Given the description of an element on the screen output the (x, y) to click on. 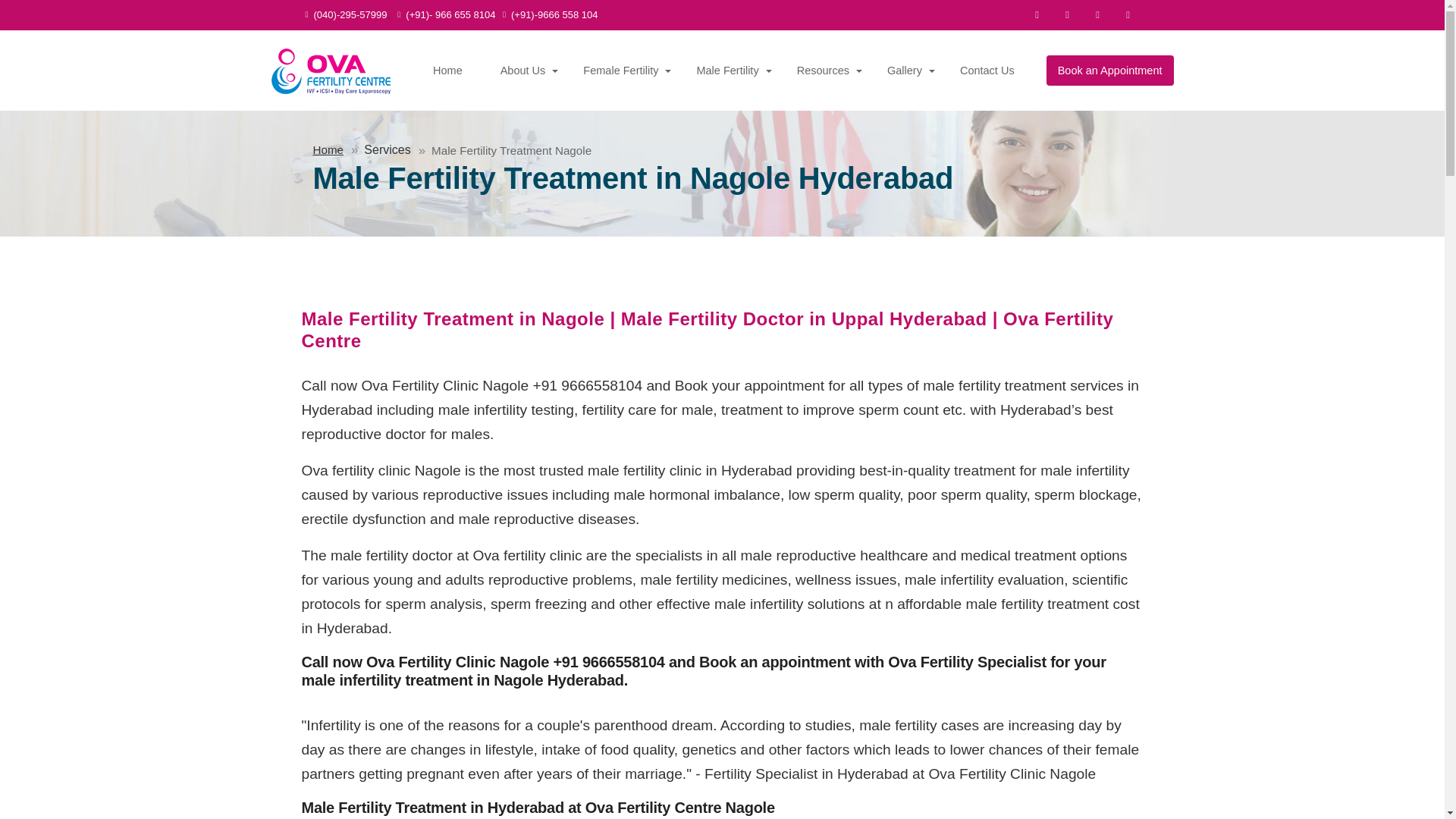
Female Fertility (625, 70)
Facebook (1037, 15)
Google (1127, 15)
Linkedin (1098, 15)
Twitter (1067, 15)
Home (452, 70)
About Us (528, 70)
